Given the description of an element on the screen output the (x, y) to click on. 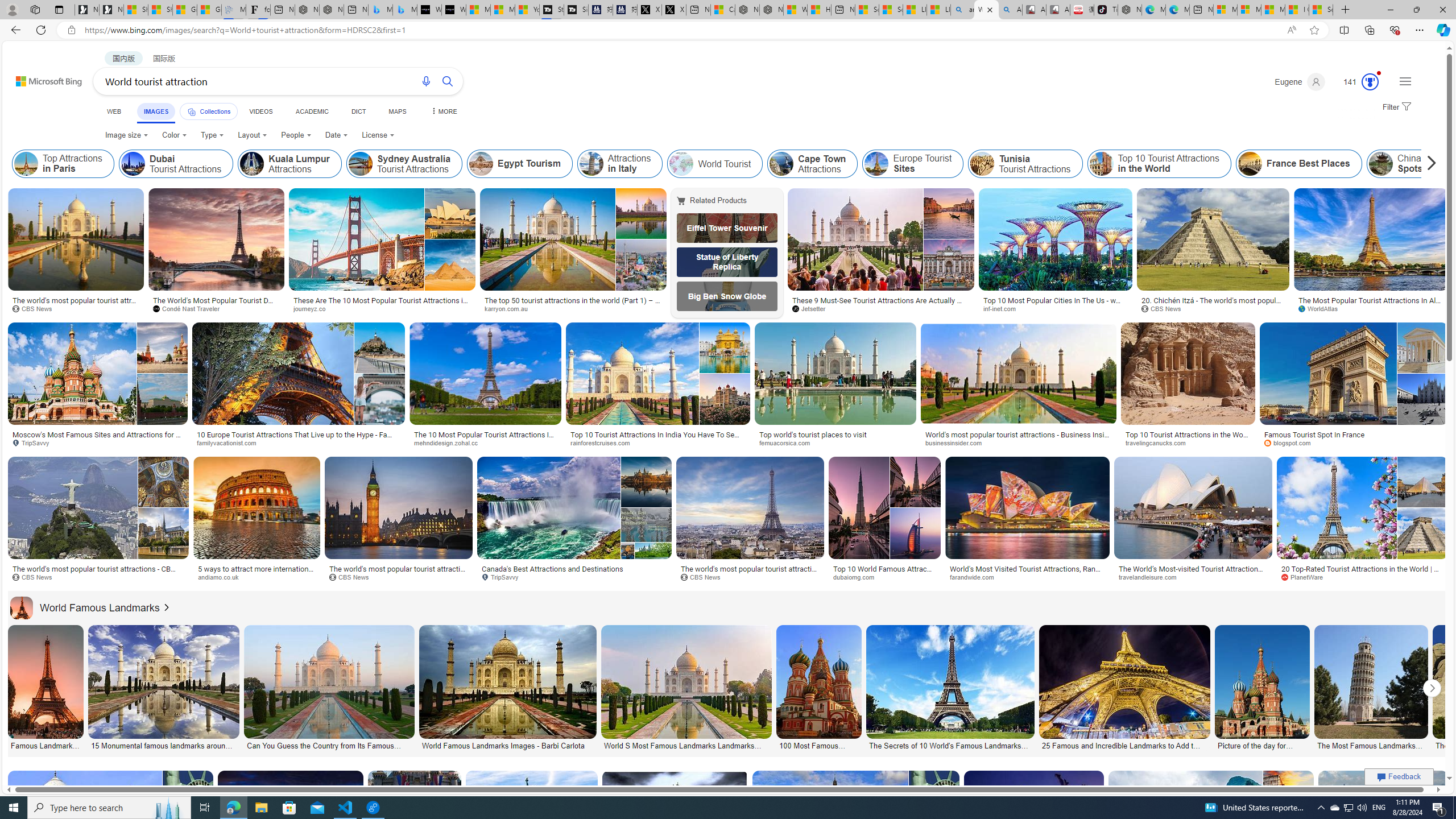
Top world's tourist places to visit (834, 434)
Color (173, 135)
andiamo.co.uk (256, 576)
Click to scroll right (1431, 687)
Canada's Best Attractions and DestinationsTripSavvySave (576, 521)
Class: medal-svg-animation (1369, 81)
Search button (447, 80)
Microsoft Bing Travel - Stays in Bangkok, Bangkok, Thailand (380, 9)
